Given the description of an element on the screen output the (x, y) to click on. 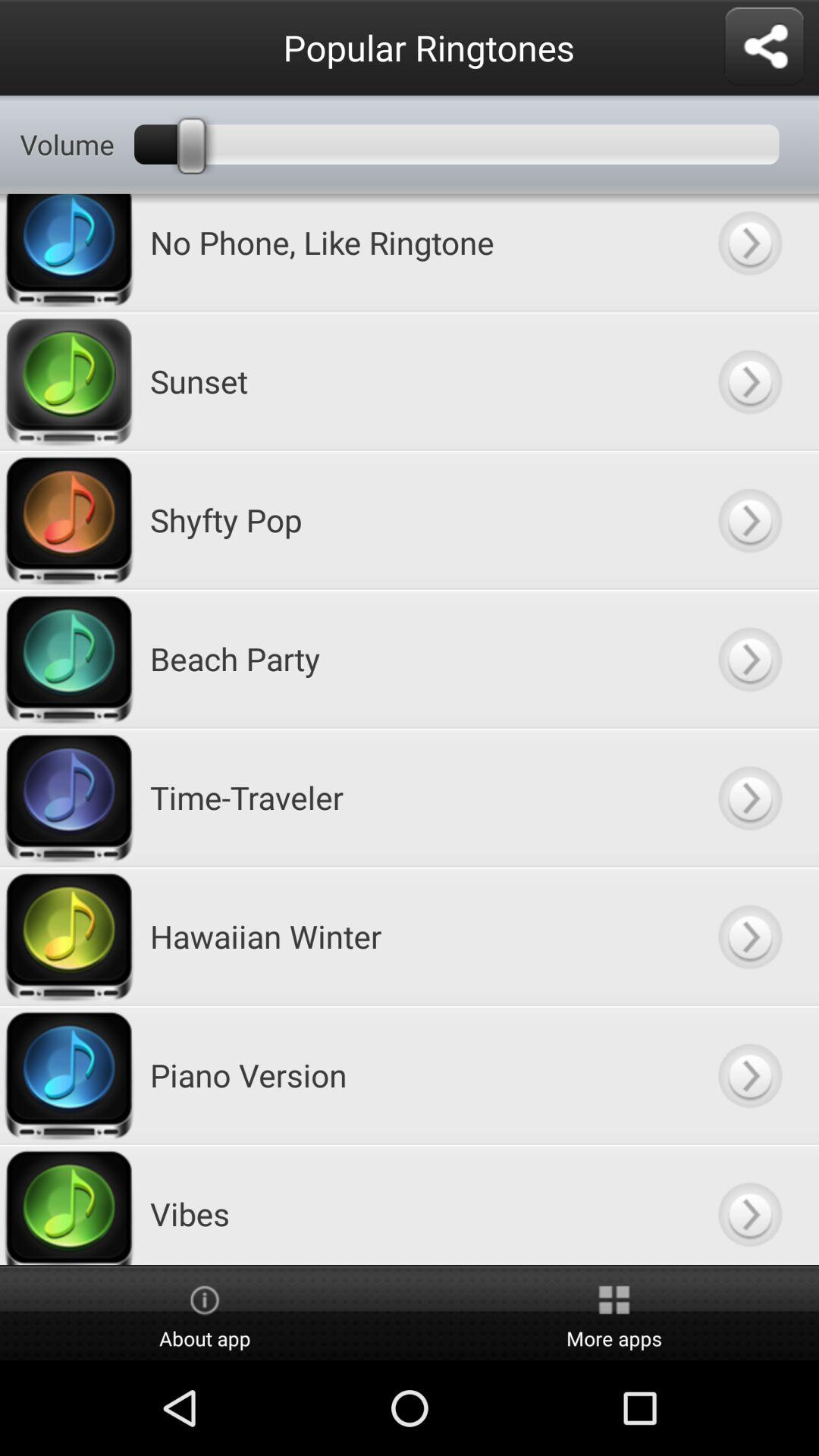
click to play (749, 252)
